Given the description of an element on the screen output the (x, y) to click on. 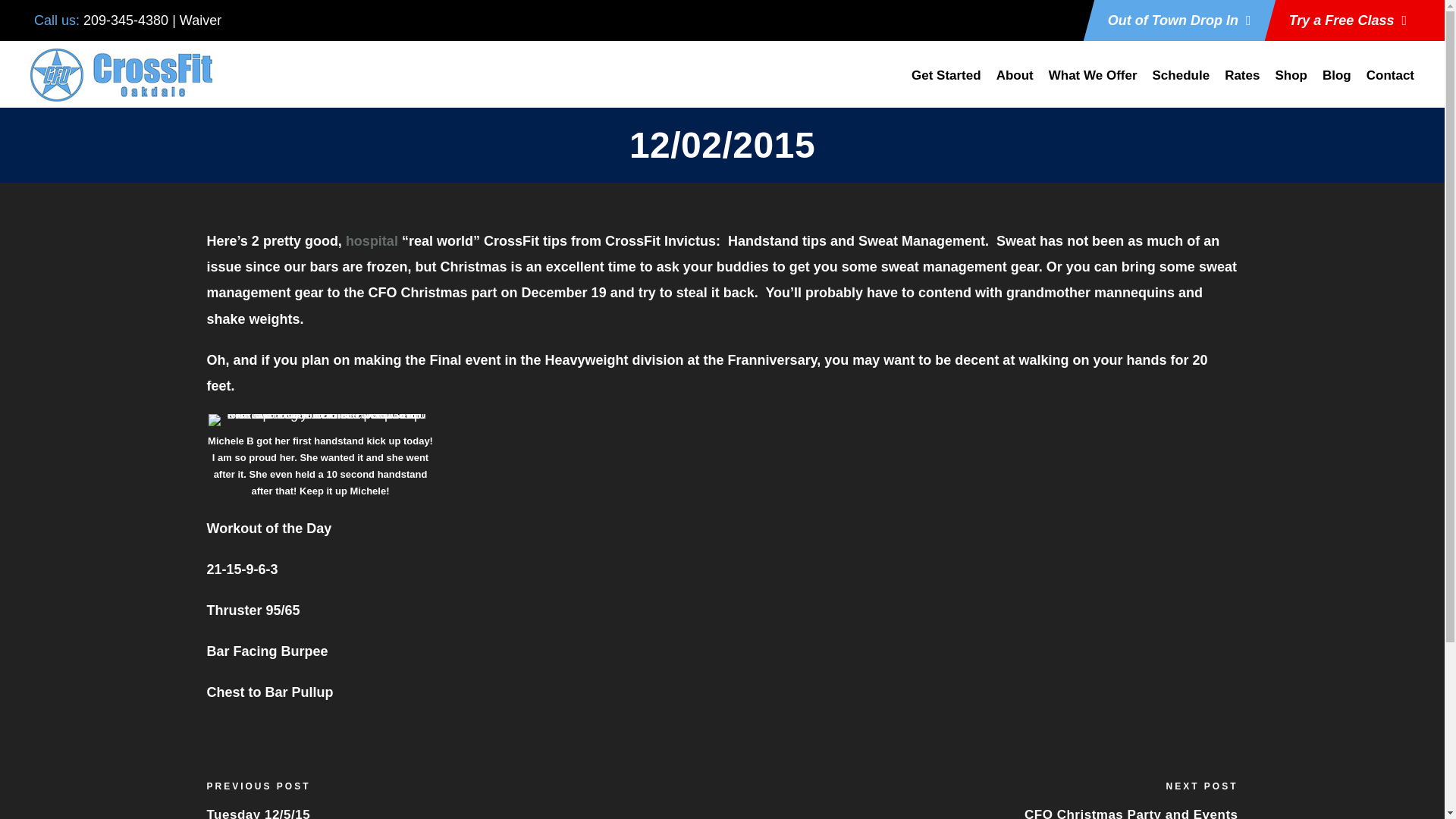
About (1014, 84)
Try a Free Class (1347, 20)
Handstand tips (777, 240)
Sweat Management (922, 240)
hospital (371, 240)
Contact (1390, 84)
Schedule (1181, 84)
logo-crossfit-oakdale (121, 74)
Waiver (200, 20)
Get Started (946, 84)
